Given the description of an element on the screen output the (x, y) to click on. 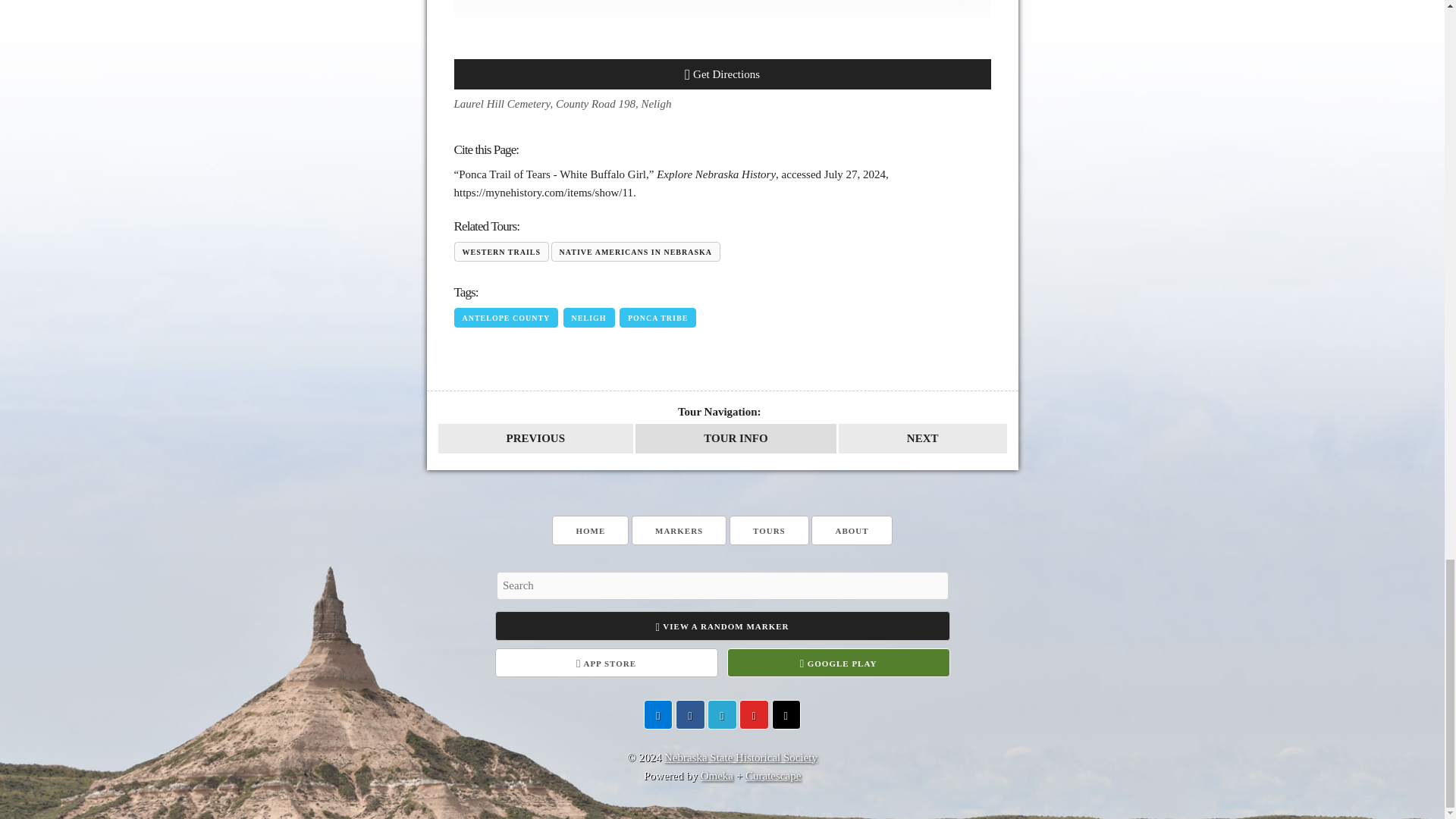
Get Directions on Google Maps (721, 73)
TOURS (769, 530)
WESTERN TRAILS (500, 251)
VIEW A RANDOM MARKER (722, 625)
GOOGLE PLAY (837, 663)
NEXT (922, 438)
NELIGH (588, 317)
PONCA TRIBE (657, 317)
Previous stop on Tour (535, 438)
TOUR INFO (734, 438)
APP STORE (606, 663)
View Tour: Native Americans in Nebraska (734, 438)
NATIVE AMERICANS IN NEBRASKA (635, 251)
MARKERS (678, 530)
Facebook (689, 714)
